Given the description of an element on the screen output the (x, y) to click on. 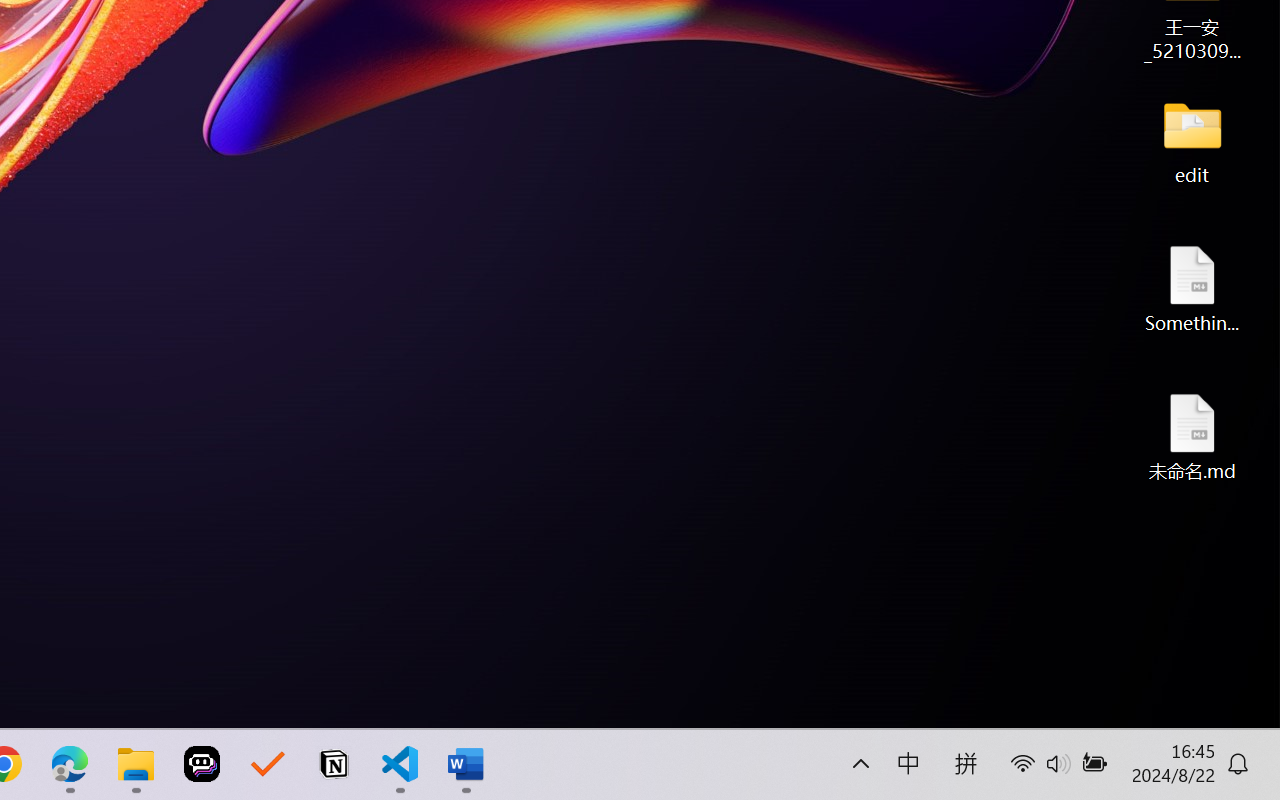
edit (1192, 140)
